Given the description of an element on the screen output the (x, y) to click on. 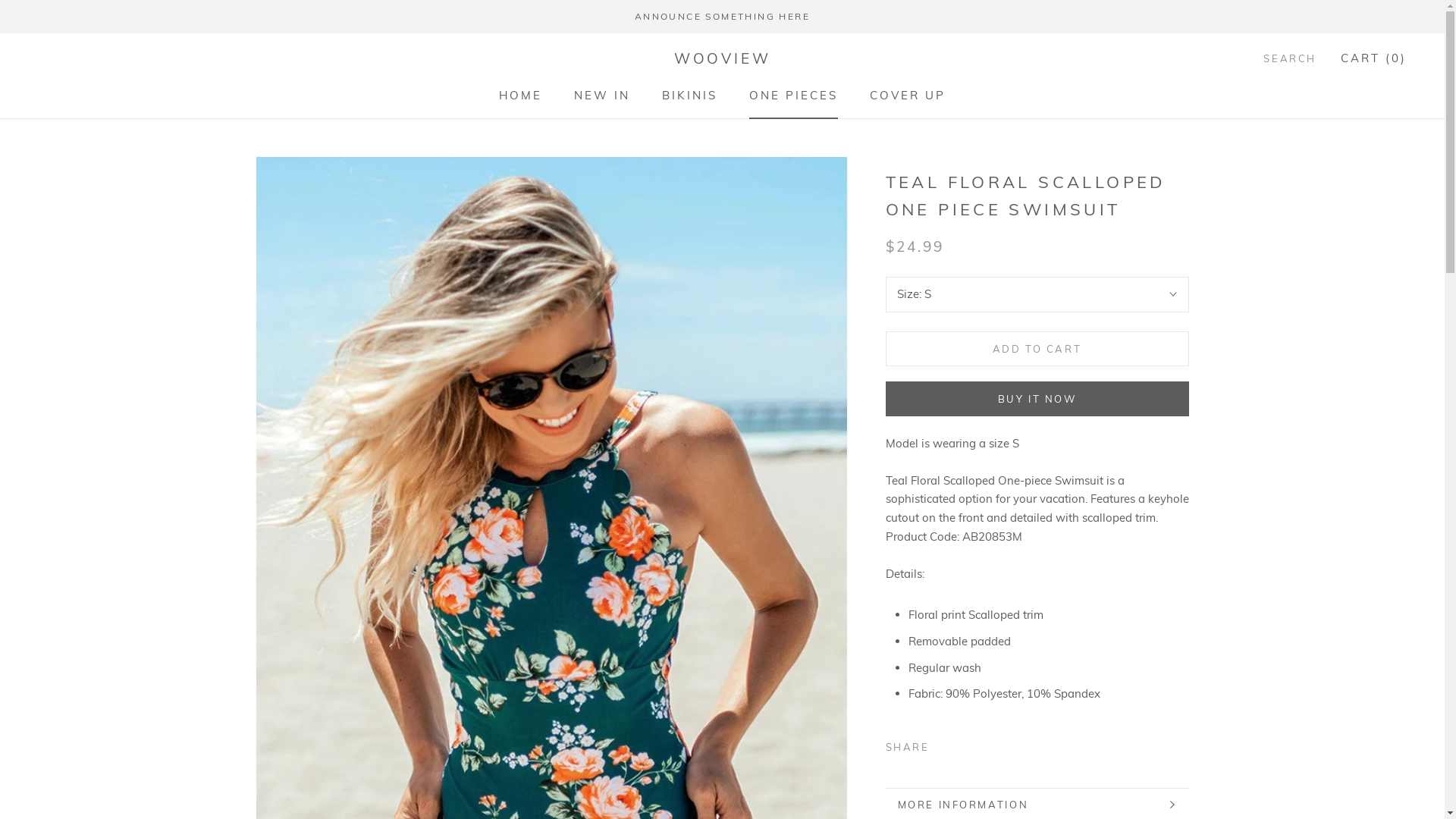
ONE PIECES
ONE PIECES Element type: text (793, 94)
COVER UP
COVER UP Element type: text (907, 94)
SEARCH Element type: text (1289, 58)
CART (0) Element type: text (1373, 57)
ADD TO CART Element type: text (1037, 348)
BIKINIS
BIKINIS Element type: text (689, 94)
NEW IN
NEW IN Element type: text (602, 94)
WOOVIEW Element type: text (722, 58)
HOME
HOME Element type: text (520, 94)
Size: S Element type: text (1037, 294)
BUY IT NOW Element type: text (1037, 398)
